Given the description of an element on the screen output the (x, y) to click on. 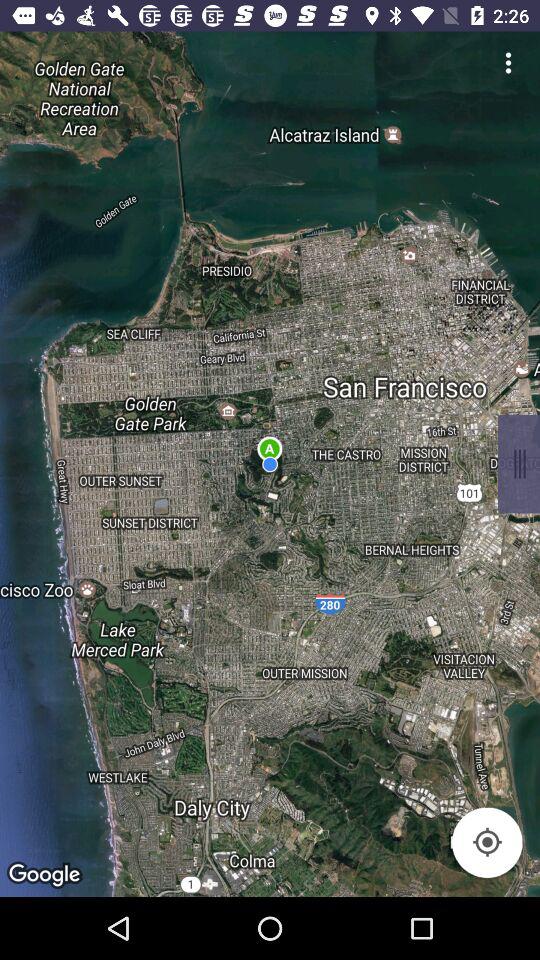
open context menu (519, 463)
